Given the description of an element on the screen output the (x, y) to click on. 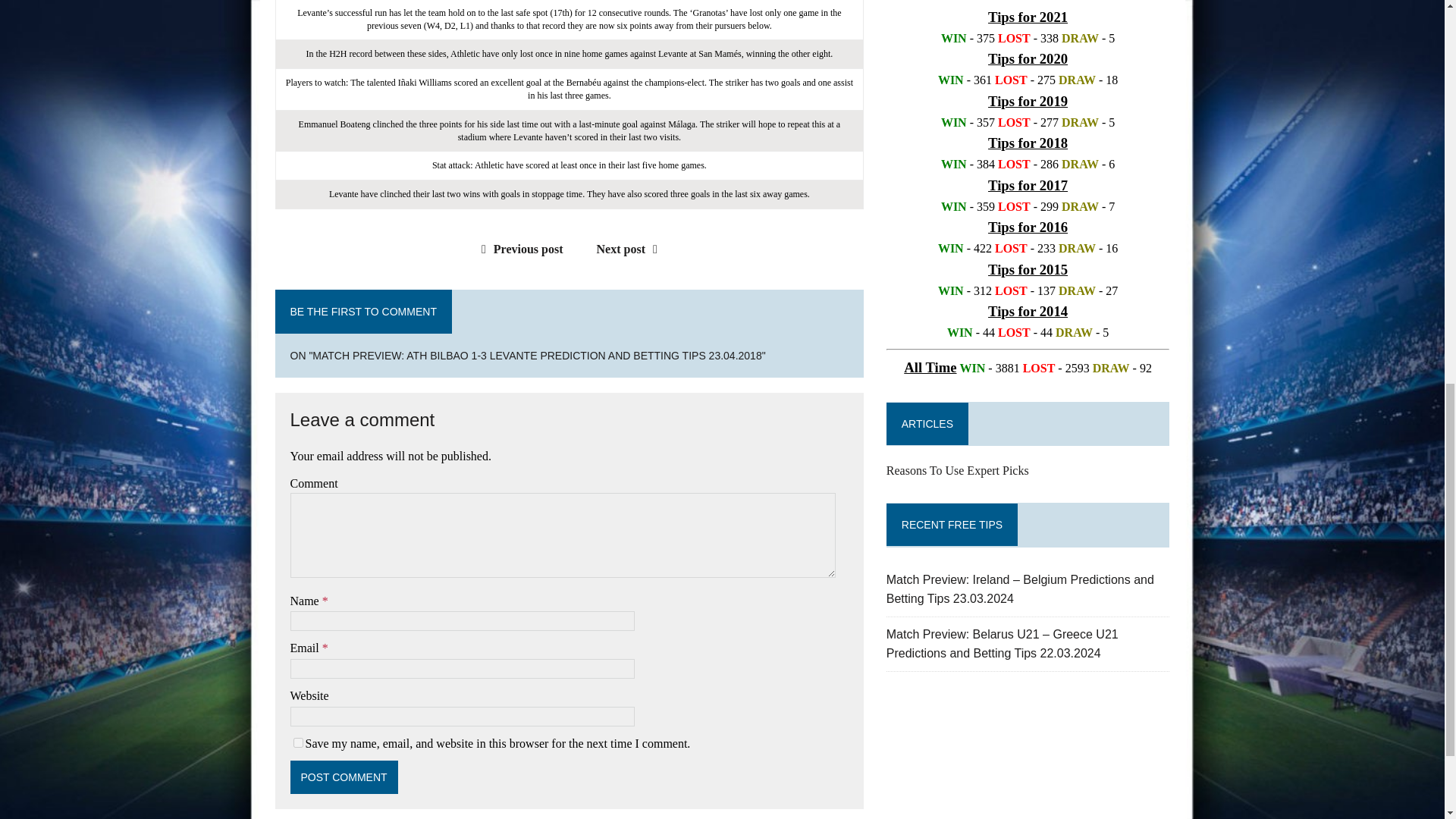
Next post (630, 248)
yes (297, 742)
Reasons To Use Expert Picks (957, 470)
Previous post (518, 248)
Post Comment (343, 776)
Post Comment (343, 776)
